Given the description of an element on the screen output the (x, y) to click on. 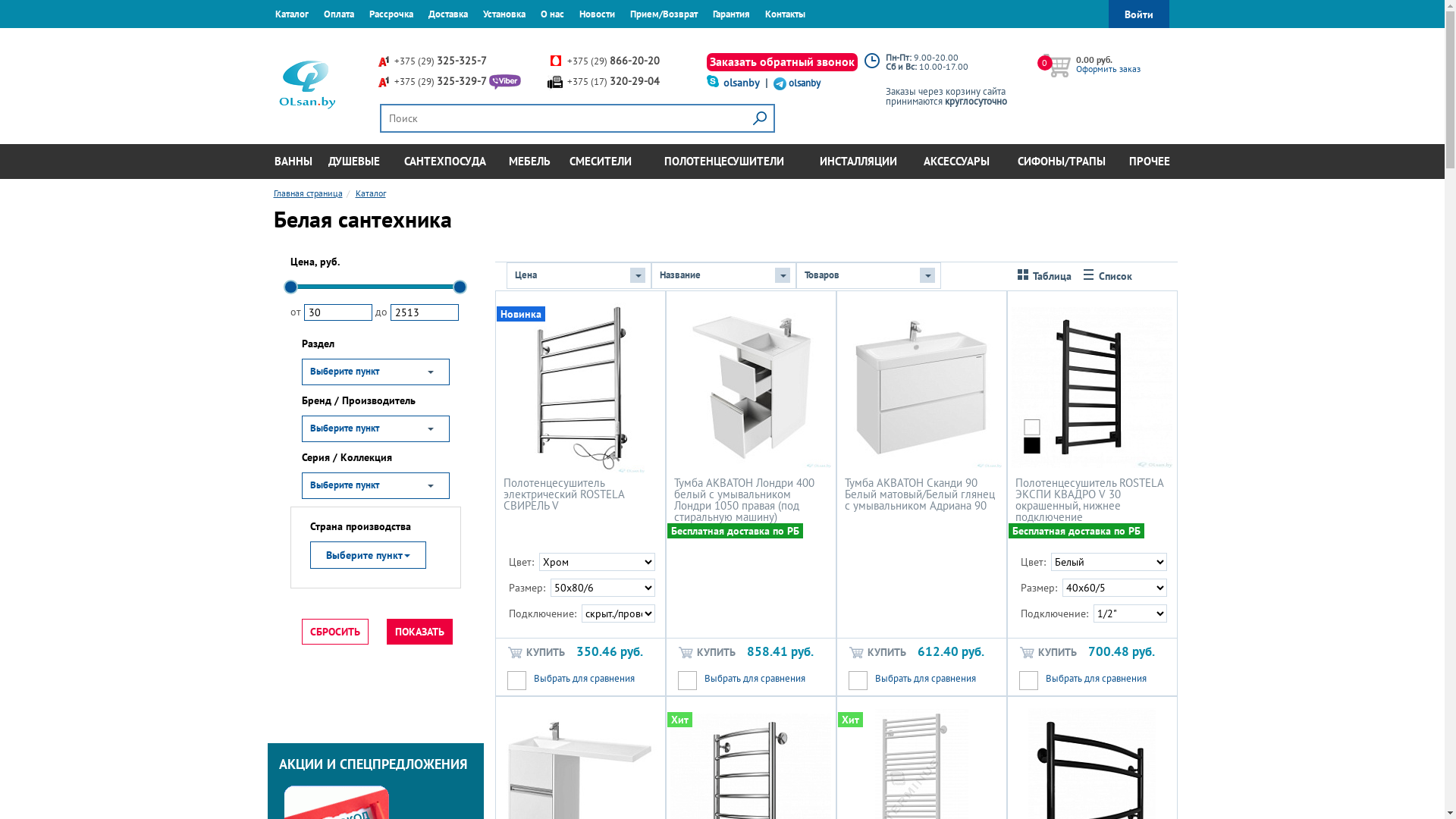
Viber Element type: hover (504, 81)
Telegram Element type: hover (779, 83)
+375 (29) 325-325-7 Element type: text (440, 60)
+375 (29) 866-20-20 Element type: text (613, 60)
+375 (17) 320-29-04 Element type: text (613, 81)
+375 (29) 325-329-7 Element type: text (440, 81)
olsanby Element type: text (741, 82)
olsanby Element type: text (804, 82)
